Given the description of an element on the screen output the (x, y) to click on. 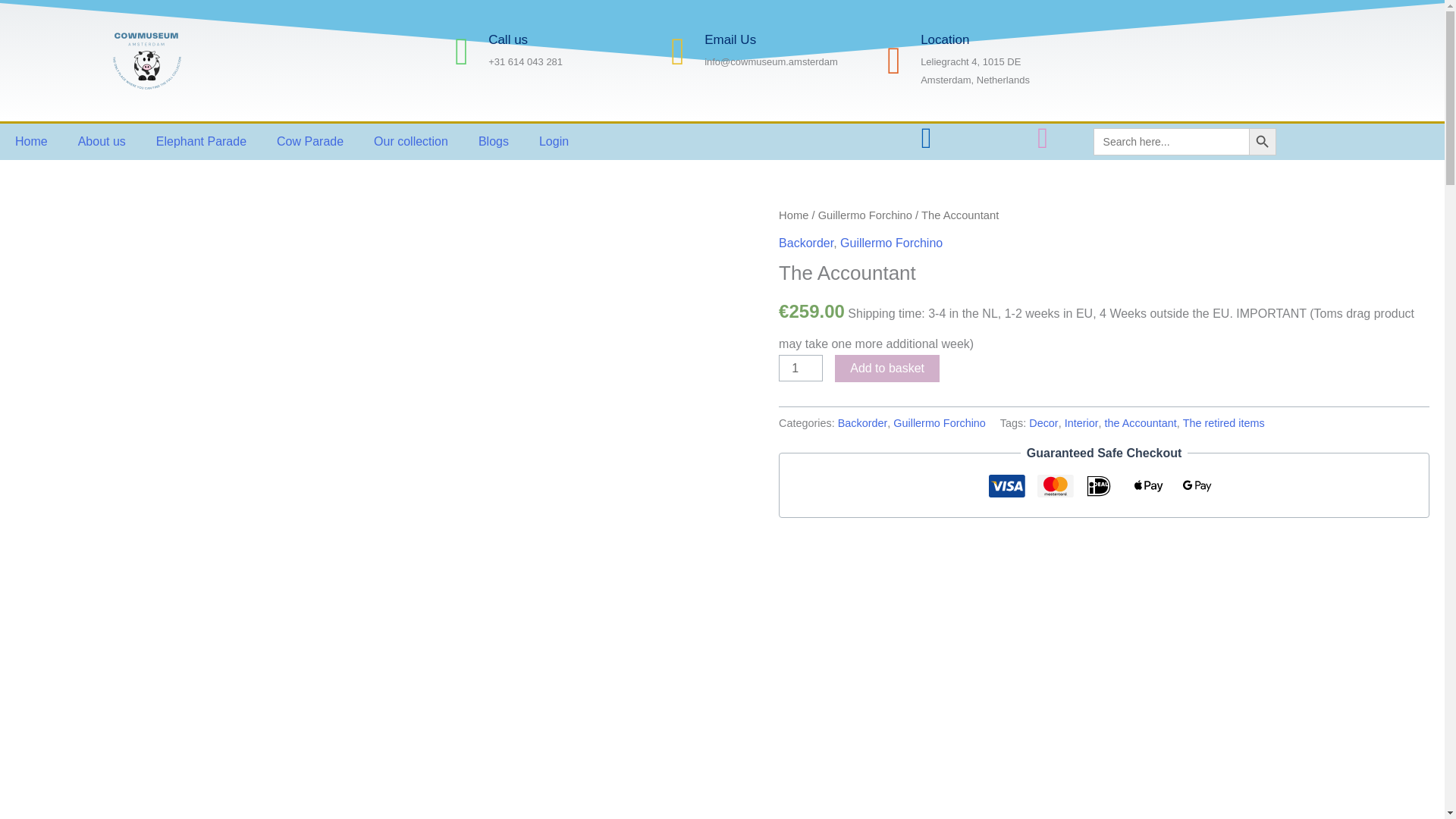
Home (31, 141)
Blogs (493, 141)
Email Us (729, 39)
Our collection (410, 141)
Login (553, 141)
About us (101, 141)
1 (800, 367)
Elephant Parade (201, 141)
Cow Parade (310, 141)
Call us (507, 39)
